Given the description of an element on the screen output the (x, y) to click on. 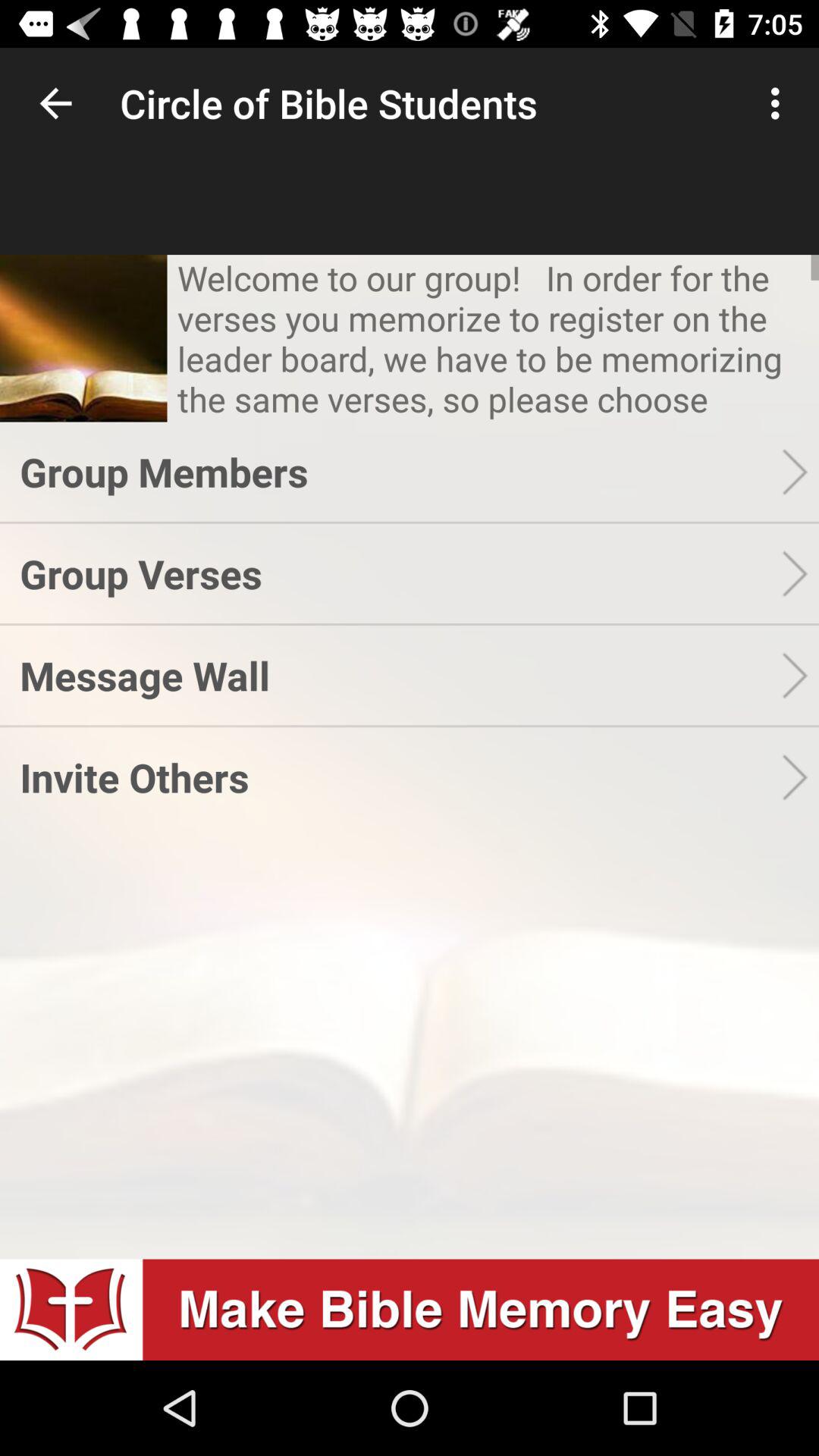
select app above invite others item (399, 675)
